Given the description of an element on the screen output the (x, y) to click on. 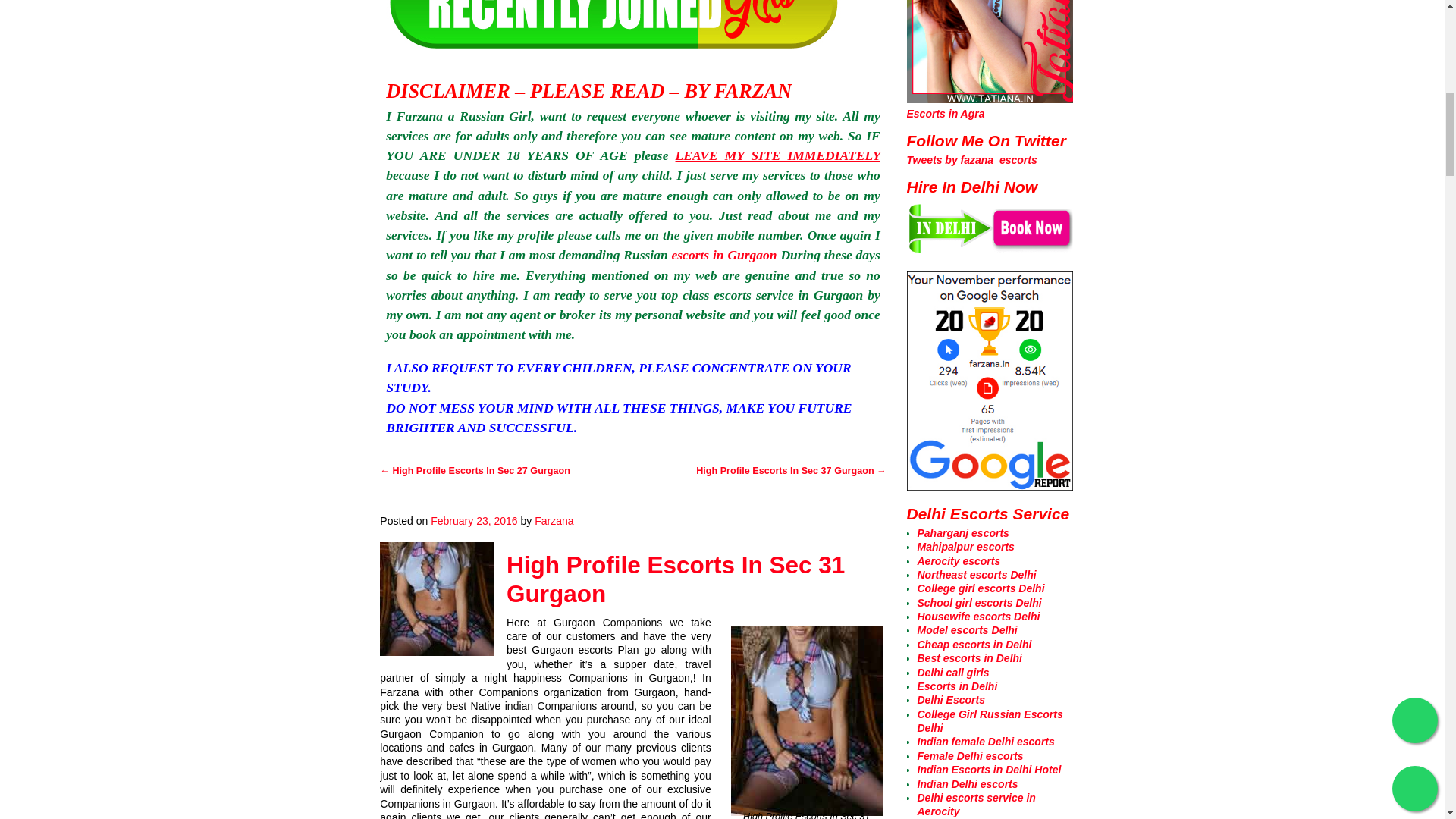
Delhi Escorts (951, 699)
February 23, 2016 (473, 521)
View all posts by Farzana (553, 521)
Escorts in Agra (946, 113)
LEAVE MY SITE IMMEDIATELY (777, 155)
Mahipalpur escorts (965, 546)
Paharganj escorts (963, 532)
8:03 pm (473, 521)
Book Russian Girl in Delhi Now (990, 249)
escorts in Gurgaon (724, 254)
Farzana (553, 521)
